Given the description of an element on the screen output the (x, y) to click on. 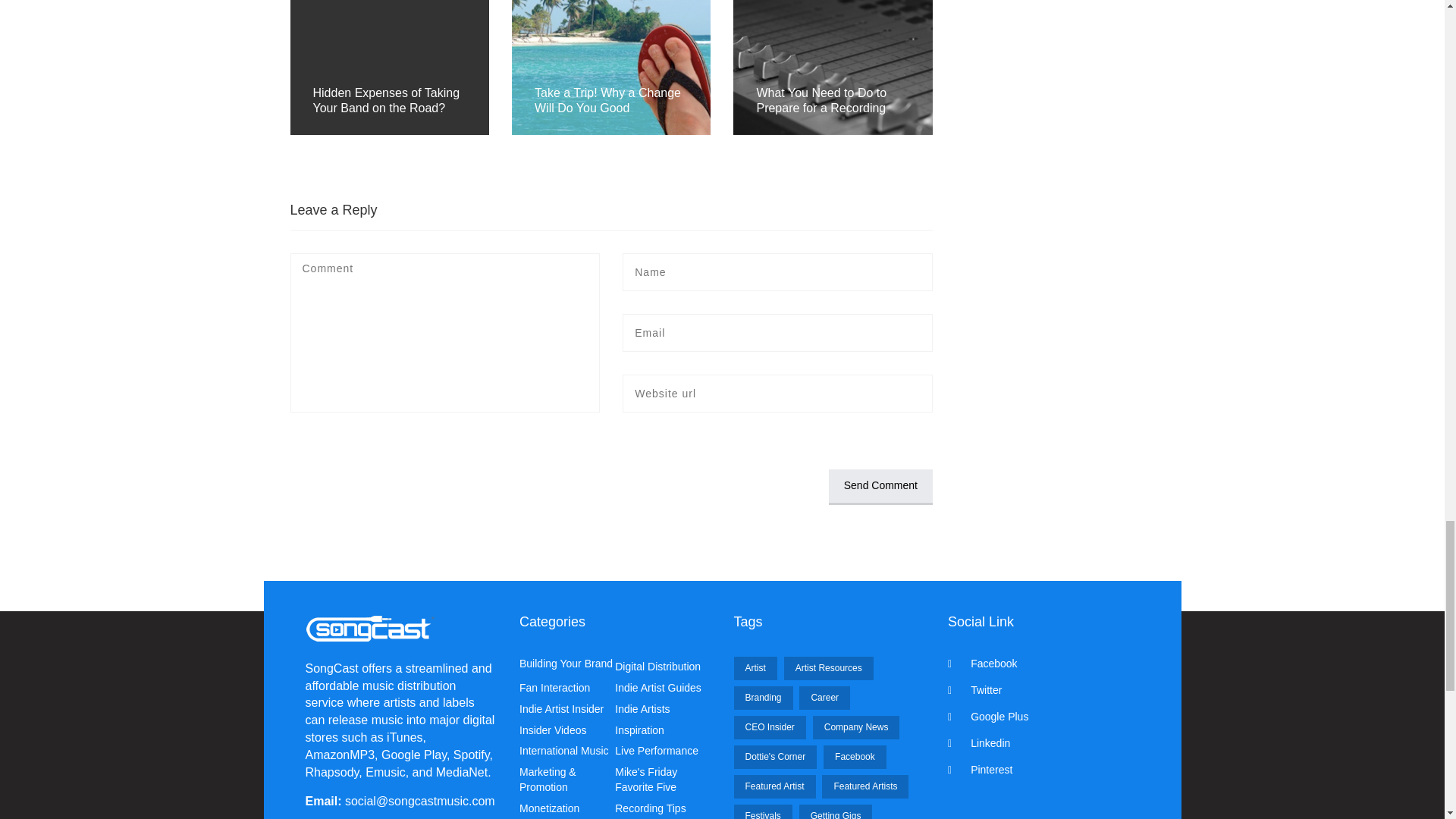
Send Comment (880, 487)
